Given the description of an element on the screen output the (x, y) to click on. 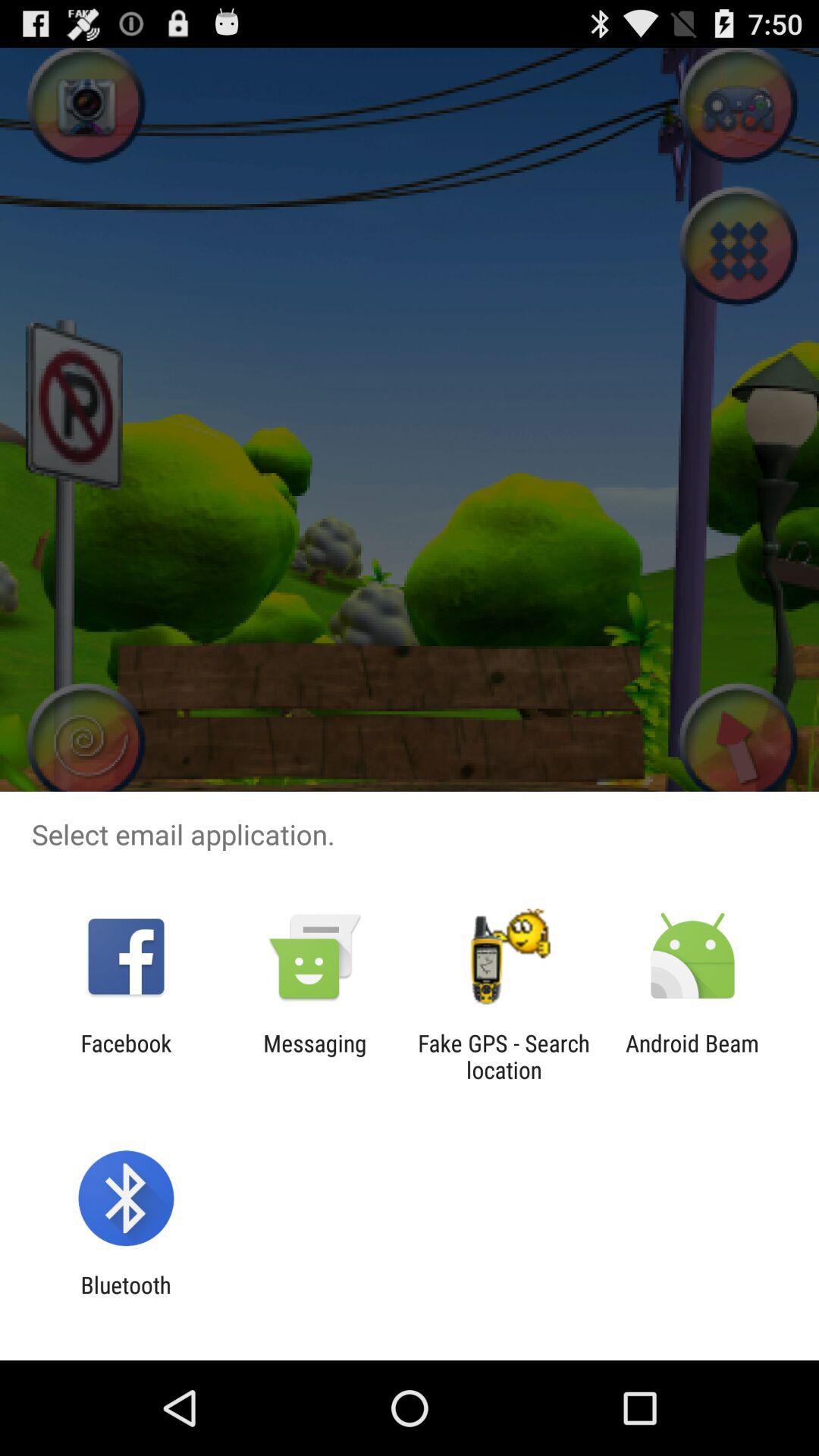
flip to fake gps search app (503, 1056)
